Given the description of an element on the screen output the (x, y) to click on. 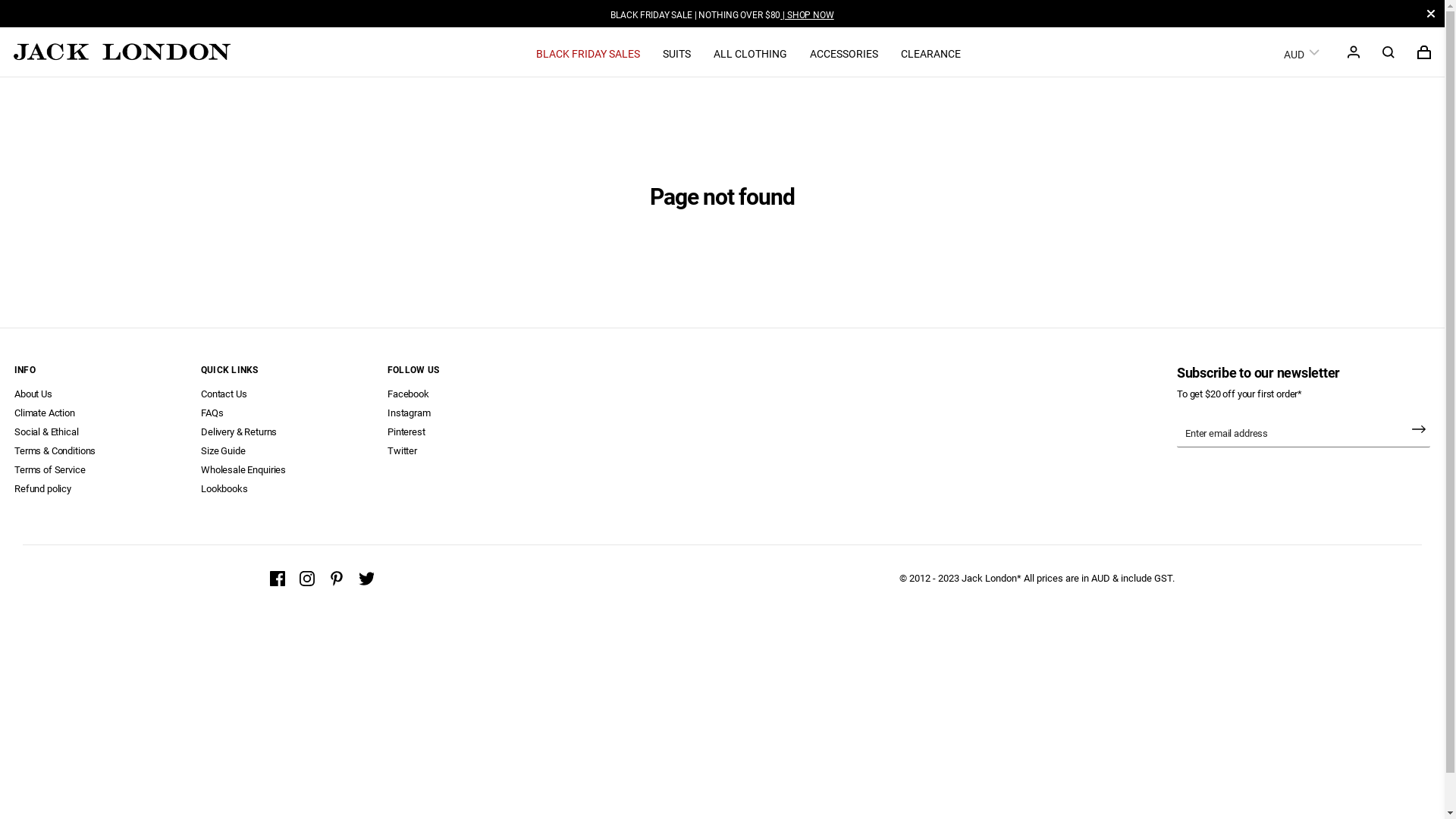
BLACK FRIDAY SALES Element type: text (588, 53)
Refund policy Element type: text (42, 488)
Pinterest Element type: text (406, 431)
| SHOP NOW Element type: text (806, 14)
Instagram Element type: text (408, 412)
About Us Element type: text (33, 393)
FAQs Element type: text (211, 412)
Terms & Conditions Element type: text (54, 450)
Terms of Service Element type: text (49, 469)
ALL CLOTHING Element type: text (750, 53)
Lookbooks Element type: text (223, 488)
Delivery & Returns Element type: text (238, 431)
Facebook Element type: text (408, 393)
Climate Action Element type: text (44, 412)
Twitter Element type: text (402, 450)
Size Guide Element type: text (222, 450)
CLEARANCE Element type: text (930, 53)
value Element type: text (1388, 51)
ACCESSORIES Element type: text (843, 53)
SUITS Element type: text (676, 53)
Social & Ethical Element type: text (46, 431)
Contact Us Element type: text (223, 393)
Wholesale Enquiries Element type: text (242, 469)
